Given the description of an element on the screen output the (x, y) to click on. 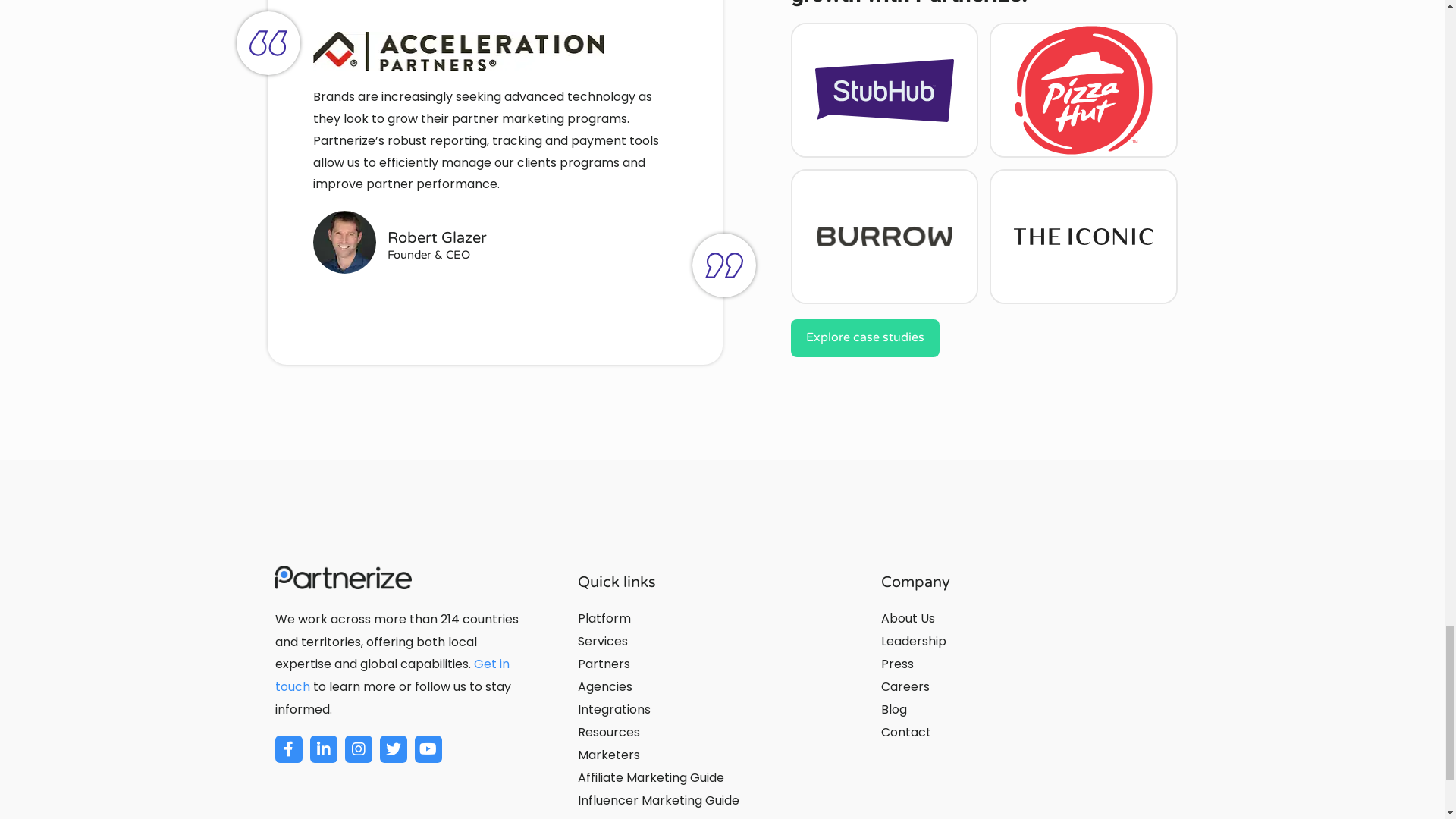
Explore case studies (864, 338)
Partnerize Logo (342, 577)
